Given the description of an element on the screen output the (x, y) to click on. 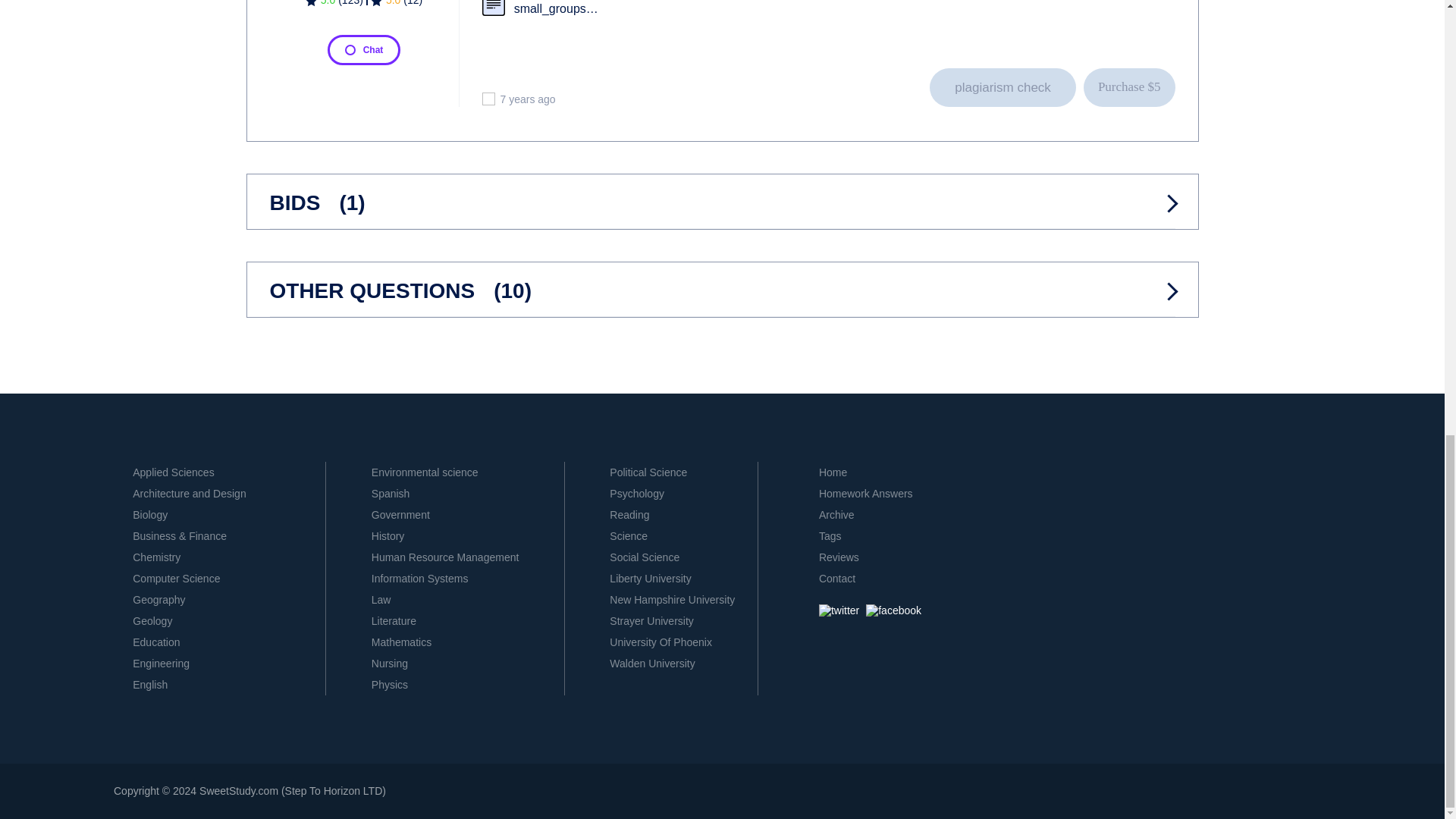
Biology (149, 514)
Architecture and Design (189, 493)
Chemistry (156, 557)
All ratings (333, 6)
Chat (363, 50)
Applied Sciences (173, 472)
English ratings (396, 6)
plagiarism check (1002, 87)
Computer Science (175, 578)
